Given the description of an element on the screen output the (x, y) to click on. 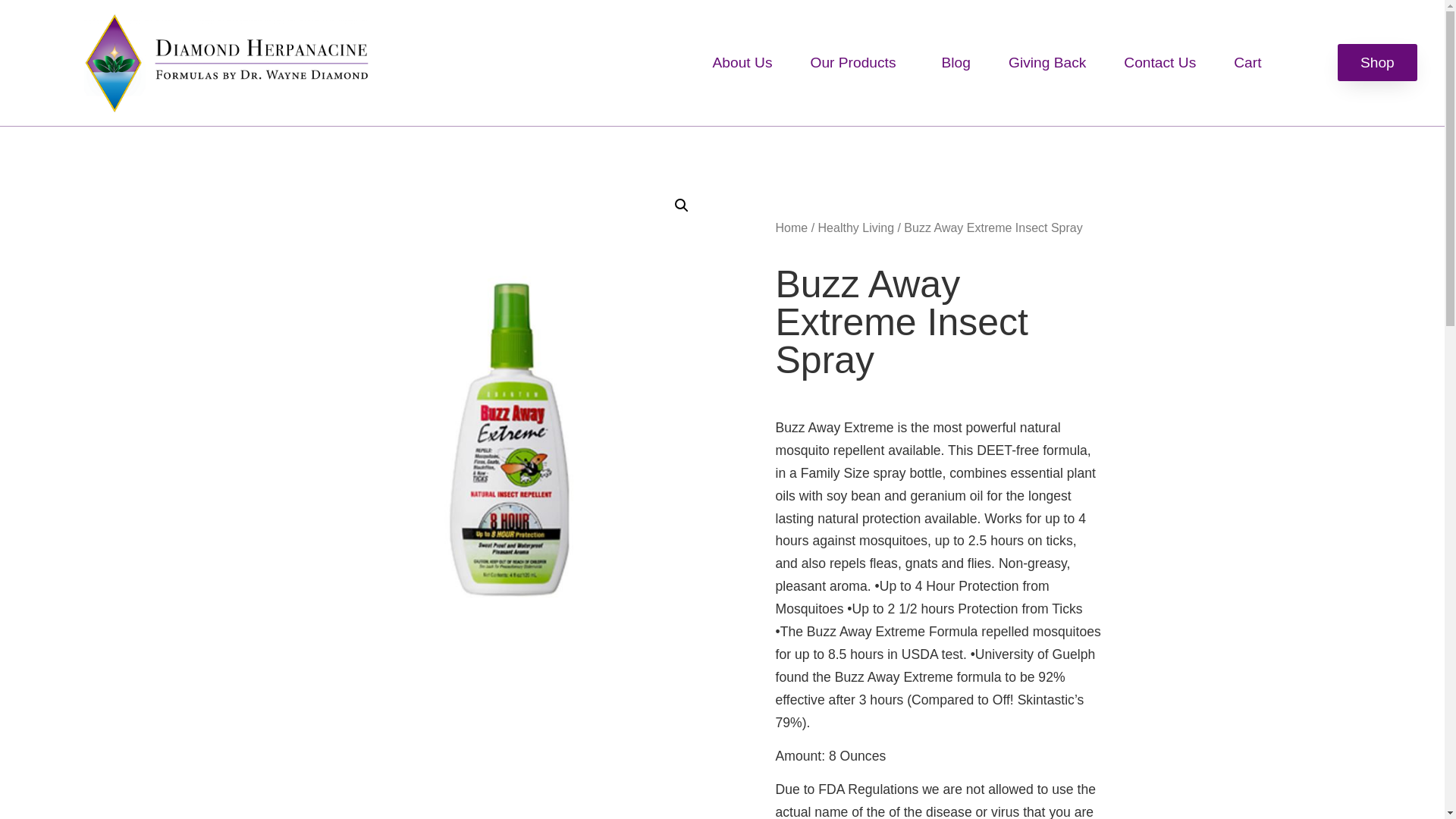
Shop (1377, 62)
Contact Us (1159, 62)
Blog (956, 62)
Our Products (857, 62)
About Us (743, 62)
Giving Back (1047, 62)
Cart (1246, 62)
